Given the description of an element on the screen output the (x, y) to click on. 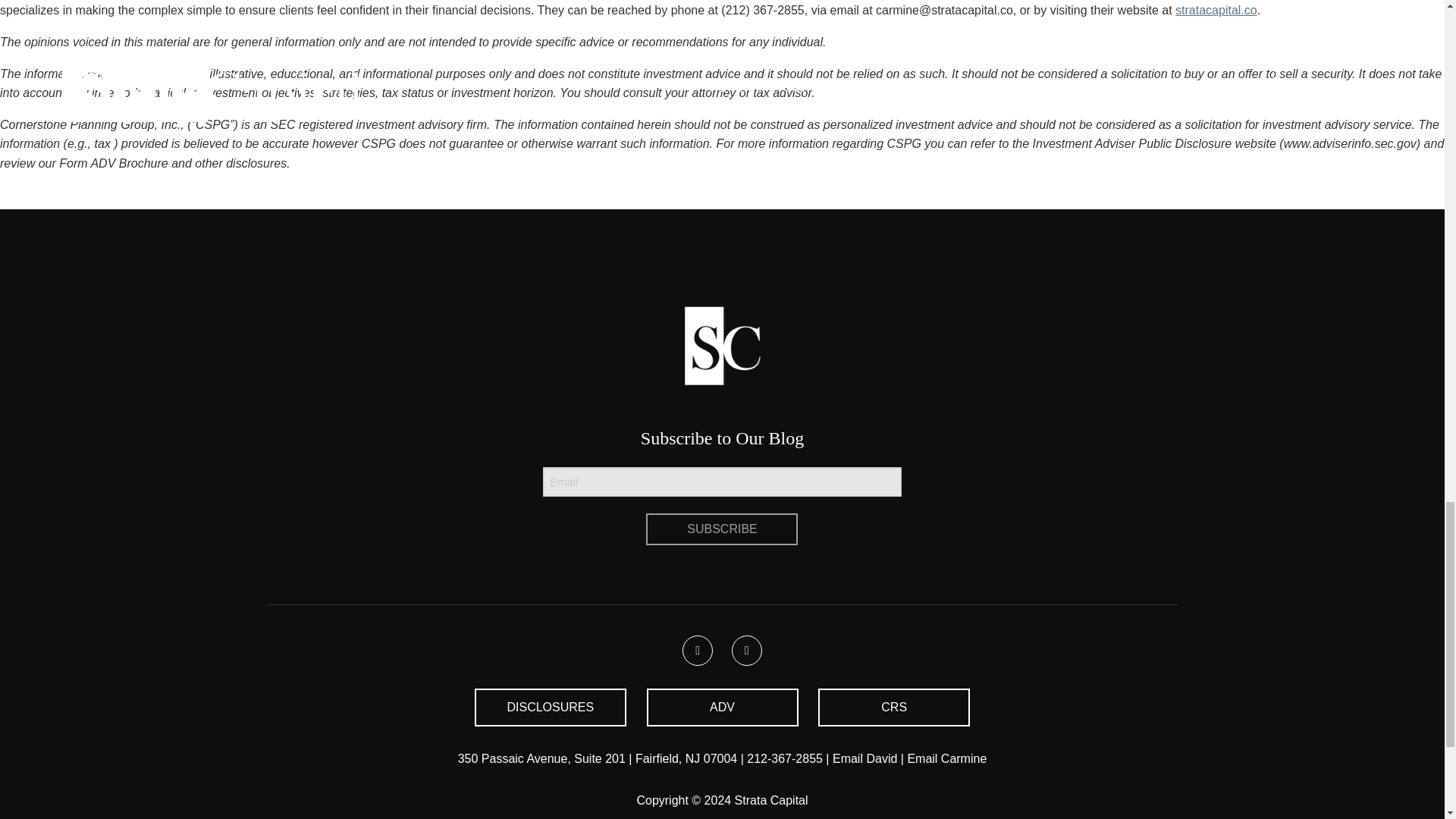
stratacapital.co (1215, 10)
Email David (864, 758)
Subscribe (721, 529)
DISCLOSURES (550, 707)
Subscribe (721, 529)
CRS (893, 707)
ADV (721, 707)
